Given the description of an element on the screen output the (x, y) to click on. 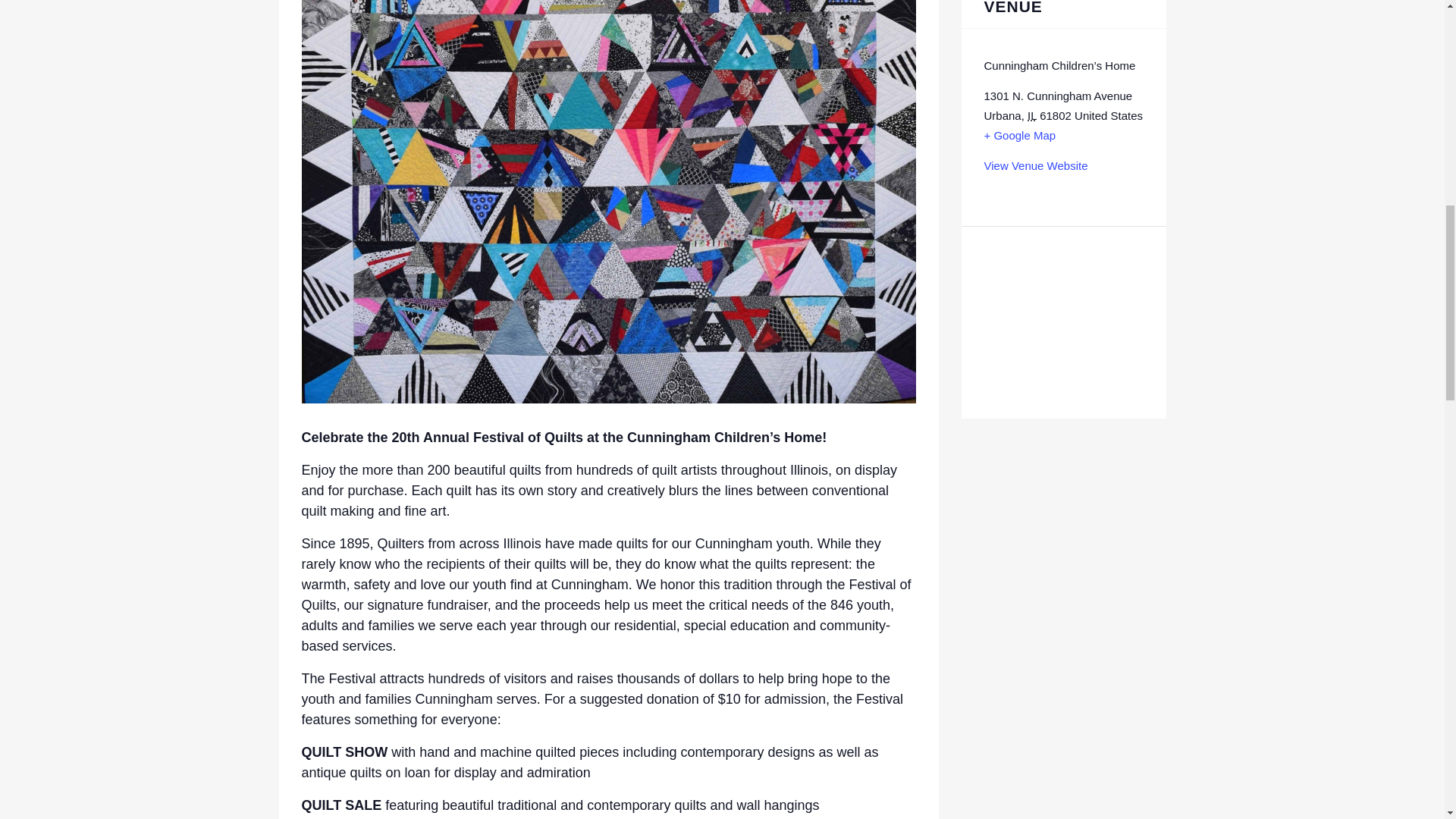
Click to view a Google Map (1020, 134)
View Venue Website (1035, 164)
